Given the description of an element on the screen output the (x, y) to click on. 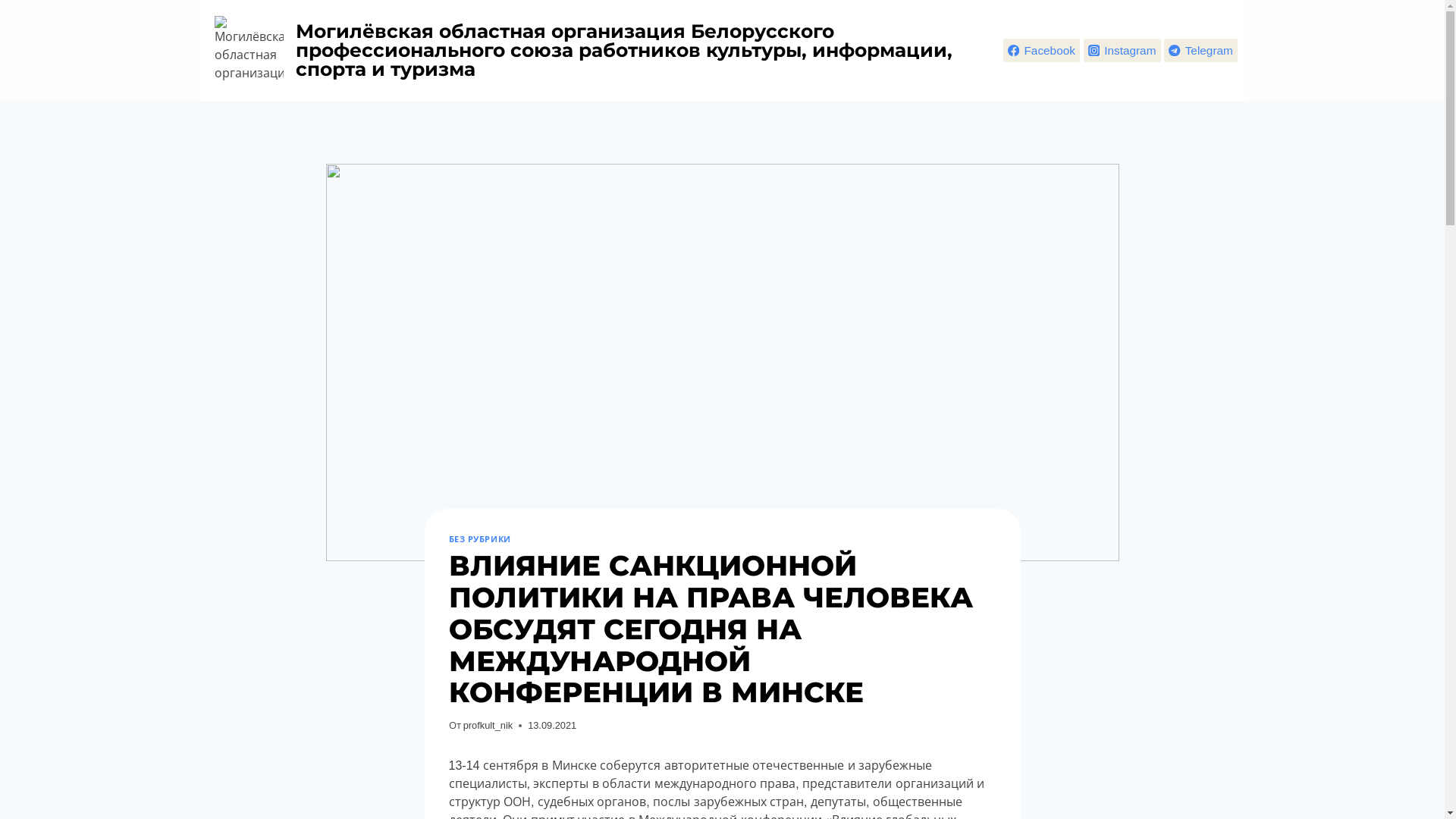
Facebook Element type: text (1041, 50)
Instagram Element type: text (1122, 50)
Telegram Element type: text (1200, 50)
profkult_nik Element type: text (487, 725)
